Given the description of an element on the screen output the (x, y) to click on. 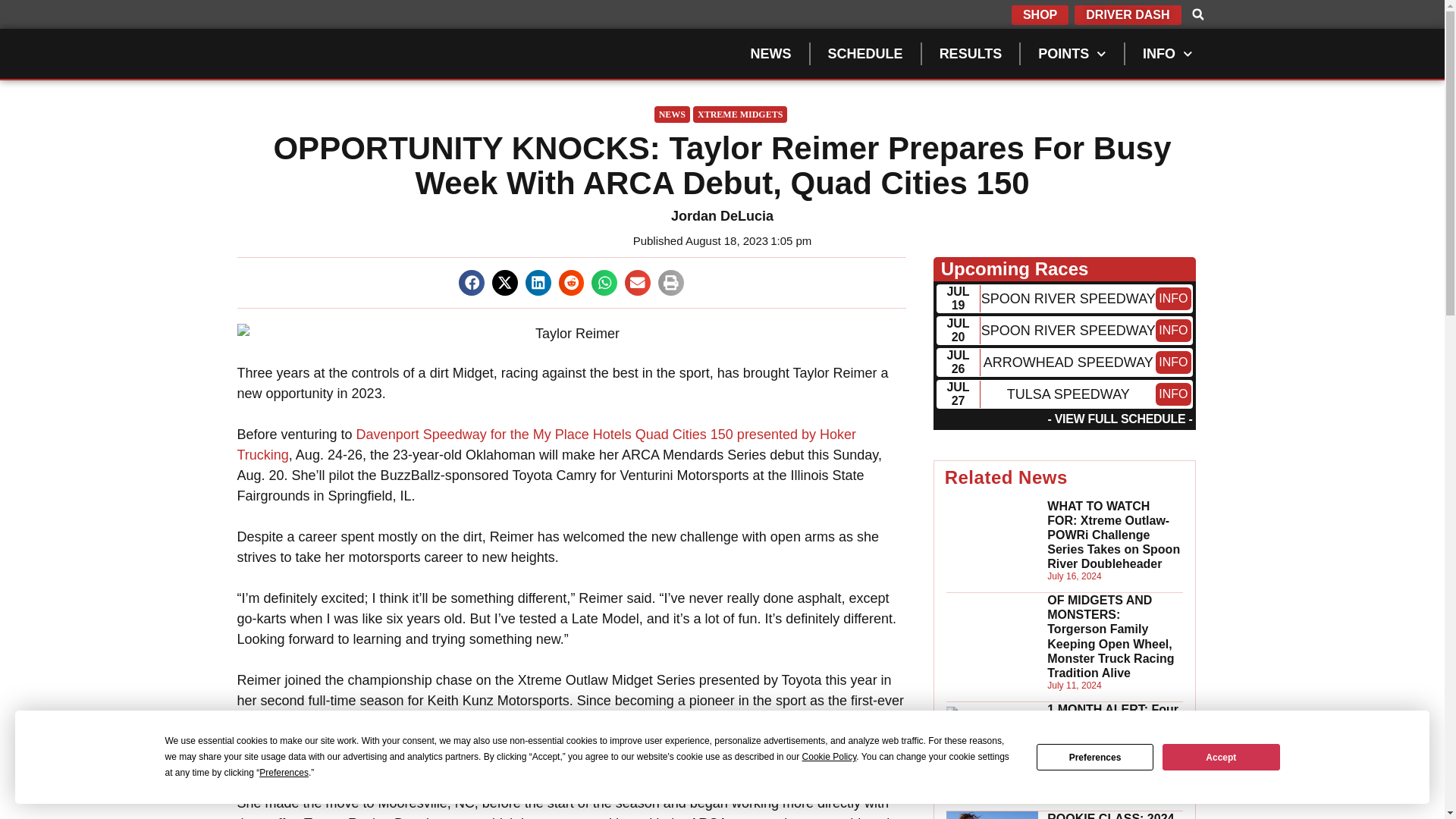
Preferences (1094, 756)
INFO (1173, 394)
Jordan DeLucia (721, 216)
INFO (1173, 330)
XTREME MIDGETS (740, 114)
RESULTS (970, 53)
DRIVER DASH (1127, 14)
INFO (1167, 53)
SCHEDULE (865, 53)
Accept (1220, 756)
INFO (1173, 362)
